Given the description of an element on the screen output the (x, y) to click on. 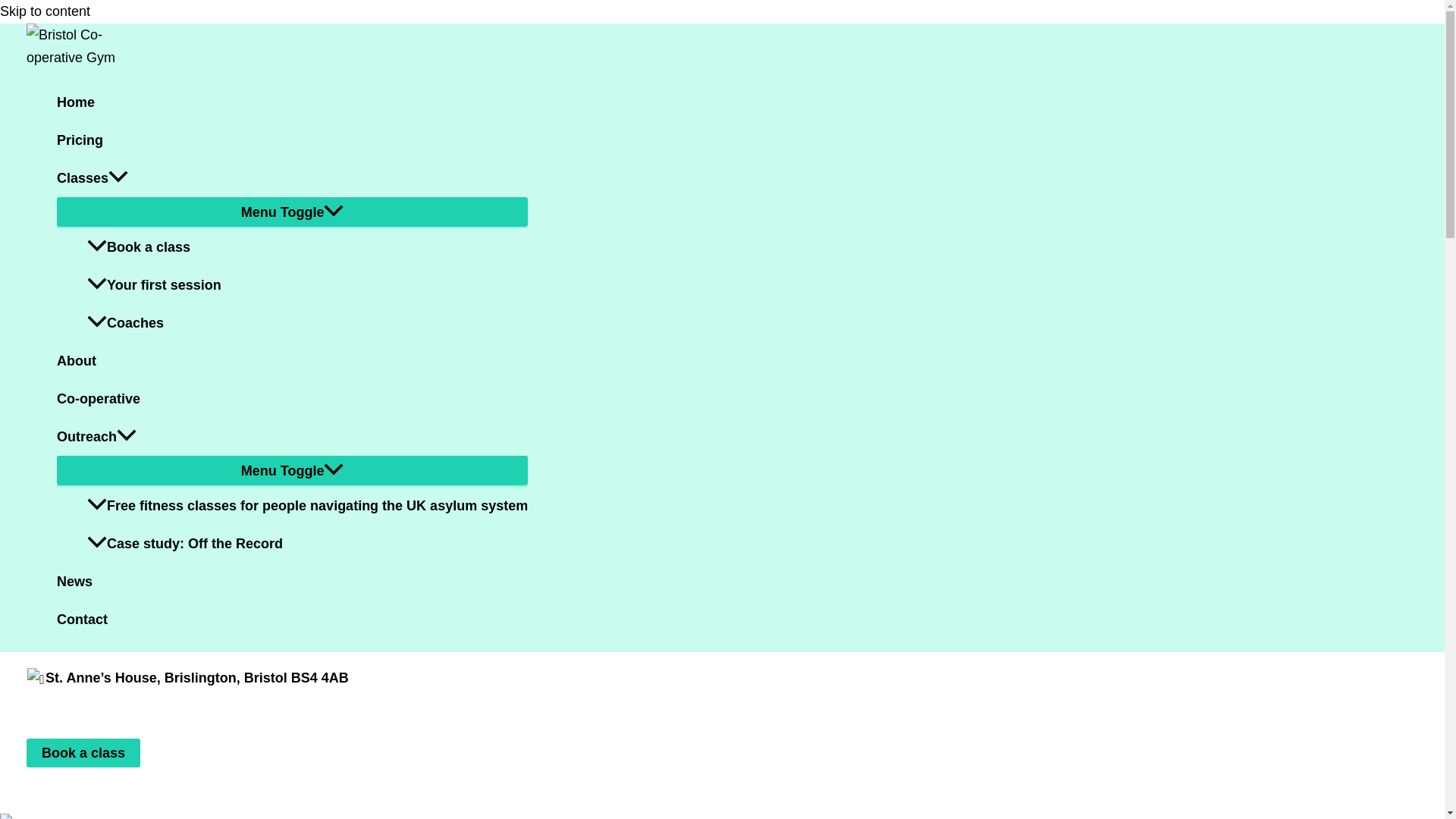
Your first session (307, 284)
Pricing (291, 139)
Book a class (82, 752)
Home (291, 102)
Co-operative (291, 398)
Outreach (291, 436)
Skip to content (45, 11)
Case study: Off the Record (307, 543)
Skip to content (45, 11)
